Given the description of an element on the screen output the (x, y) to click on. 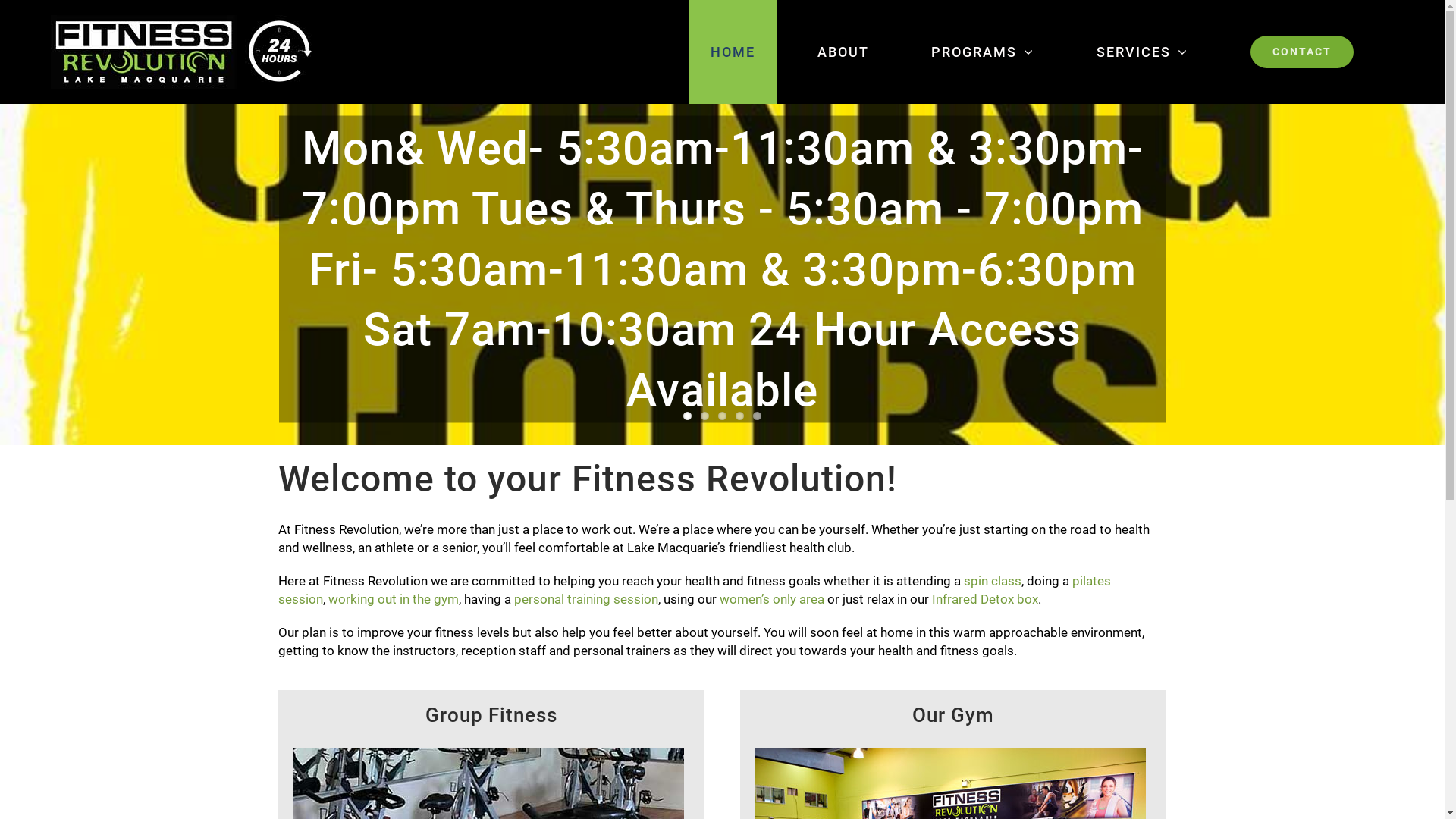
ABOUT Element type: text (842, 51)
4 Element type: text (739, 415)
Infrared Detox box Element type: text (984, 598)
working out in the gym Element type: text (393, 598)
personal training session Element type: text (586, 598)
pilates session Element type: text (694, 589)
3 Element type: text (722, 415)
2 Element type: text (704, 415)
SERVICES Element type: text (1141, 51)
5 Element type: text (757, 415)
HOME Element type: text (732, 51)
PROGRAMS Element type: text (982, 51)
spin class Element type: text (992, 580)
1 Element type: text (687, 415)
CONTACT Element type: text (1301, 51)
